Given the description of an element on the screen output the (x, y) to click on. 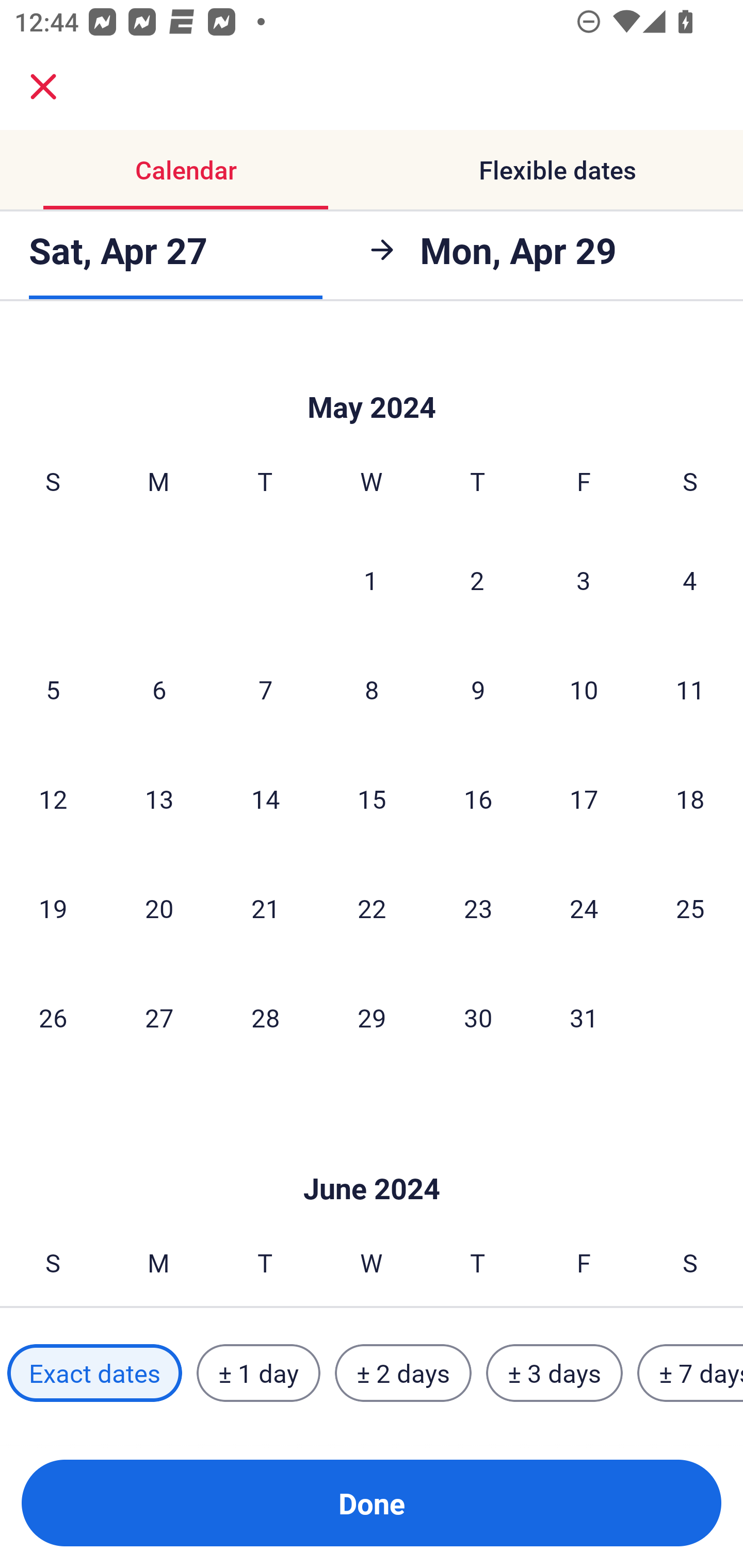
close. (43, 86)
Flexible dates (557, 170)
Skip to Done (371, 376)
1 Wednesday, May 1, 2024 (371, 579)
2 Thursday, May 2, 2024 (477, 579)
3 Friday, May 3, 2024 (583, 579)
4 Saturday, May 4, 2024 (689, 579)
5 Sunday, May 5, 2024 (53, 688)
6 Monday, May 6, 2024 (159, 688)
7 Tuesday, May 7, 2024 (265, 688)
8 Wednesday, May 8, 2024 (371, 688)
9 Thursday, May 9, 2024 (477, 688)
10 Friday, May 10, 2024 (584, 688)
11 Saturday, May 11, 2024 (690, 688)
12 Sunday, May 12, 2024 (53, 798)
13 Monday, May 13, 2024 (159, 798)
14 Tuesday, May 14, 2024 (265, 798)
15 Wednesday, May 15, 2024 (371, 798)
16 Thursday, May 16, 2024 (477, 798)
17 Friday, May 17, 2024 (584, 798)
18 Saturday, May 18, 2024 (690, 798)
19 Sunday, May 19, 2024 (53, 907)
20 Monday, May 20, 2024 (159, 907)
21 Tuesday, May 21, 2024 (265, 907)
22 Wednesday, May 22, 2024 (371, 907)
23 Thursday, May 23, 2024 (477, 907)
24 Friday, May 24, 2024 (584, 907)
25 Saturday, May 25, 2024 (690, 907)
26 Sunday, May 26, 2024 (53, 1017)
27 Monday, May 27, 2024 (159, 1017)
28 Tuesday, May 28, 2024 (265, 1017)
29 Wednesday, May 29, 2024 (371, 1017)
30 Thursday, May 30, 2024 (477, 1017)
31 Friday, May 31, 2024 (584, 1017)
Skip to Done (371, 1157)
Exact dates (94, 1372)
± 1 day (258, 1372)
± 2 days (403, 1372)
± 3 days (553, 1372)
± 7 days (690, 1372)
Done (371, 1502)
